Given the description of an element on the screen output the (x, y) to click on. 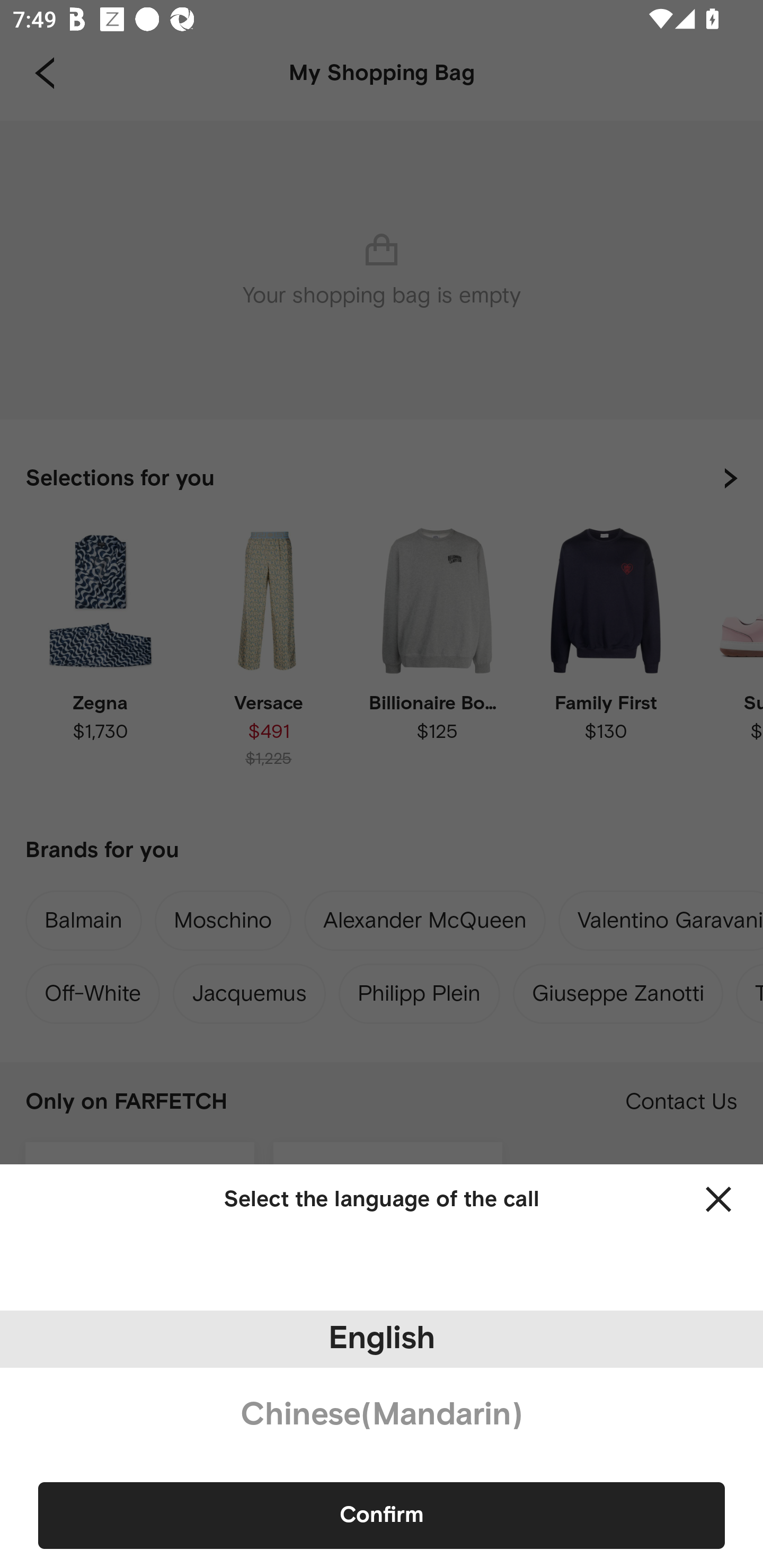
English (381, 1338)
Chinese(Mandarin) (381, 1415)
Confirm (381, 1515)
